Given the description of an element on the screen output the (x, y) to click on. 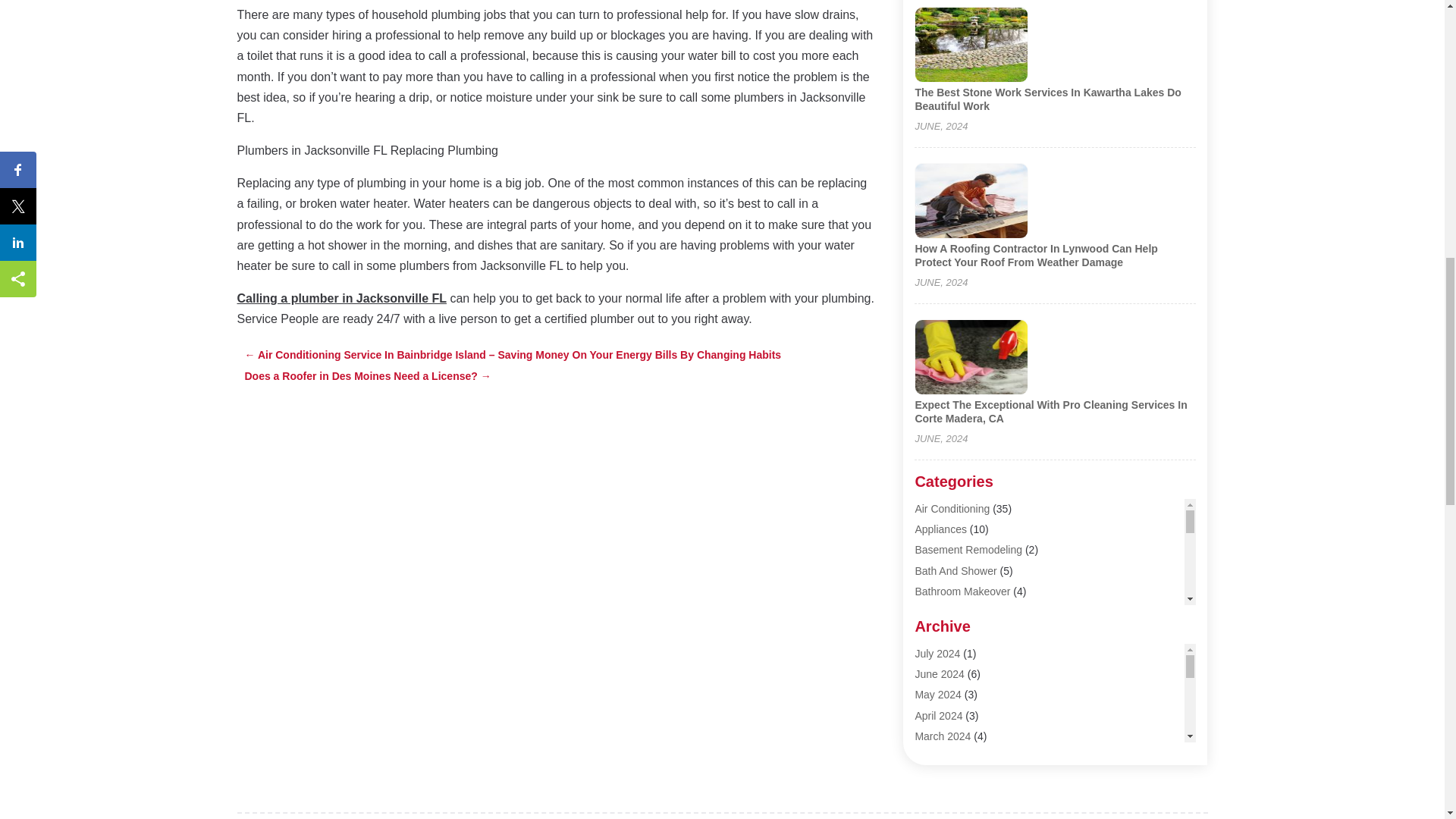
Cleaning Tips And Tools (970, 756)
Commercial Refrigeration (974, 776)
Carpet Cleaning Service (971, 694)
Bath And Shower (954, 571)
Appliances (940, 529)
Construction And Maintenance (986, 797)
Business (936, 653)
Cleaning (935, 715)
Basement Remodeling (968, 549)
Air Conditioning (952, 508)
Cleaning Service (954, 735)
Contractor (938, 815)
Blinds (928, 612)
